Given the description of an element on the screen output the (x, y) to click on. 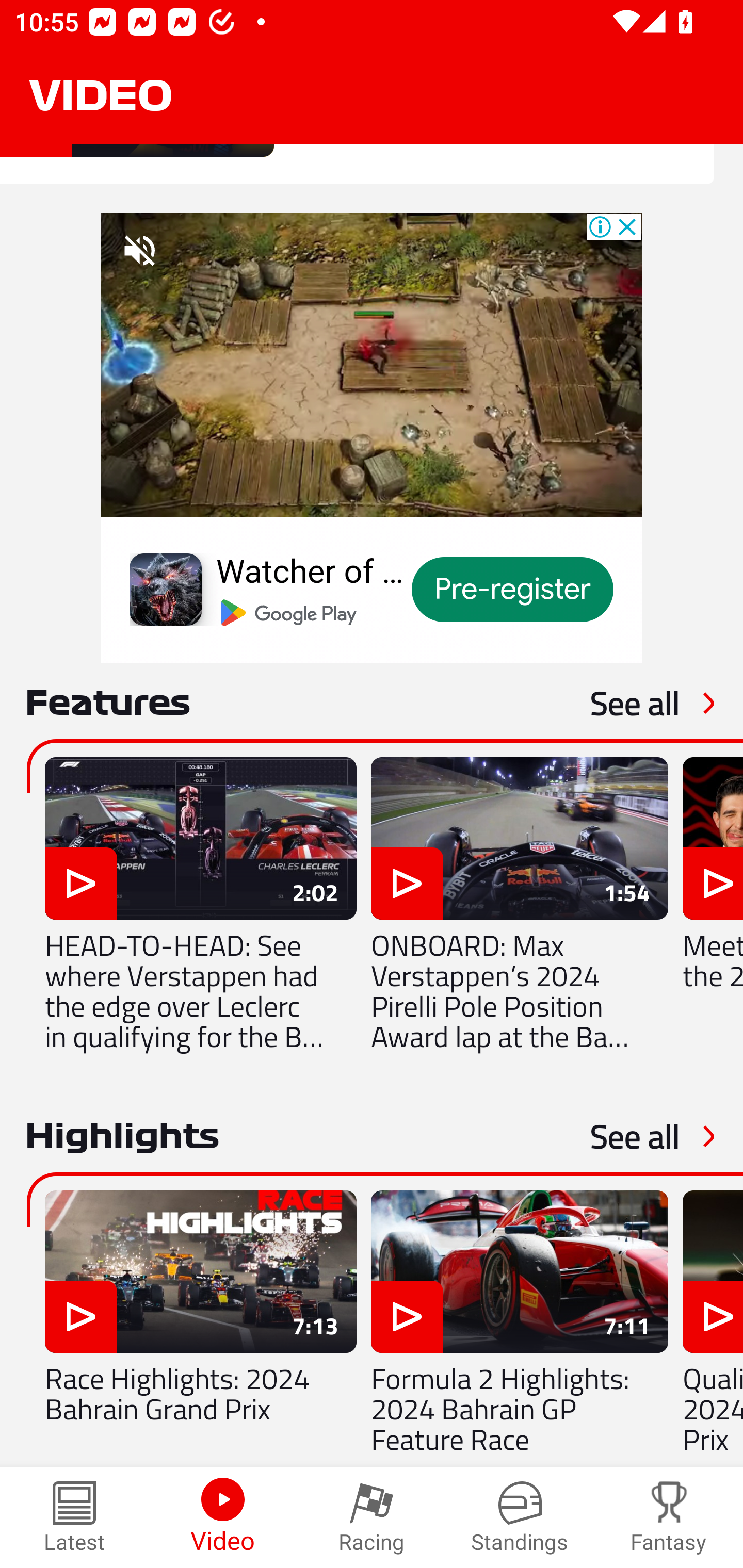
Pre-register (512, 589)
See all (634, 702)
See all (634, 1135)
Latest (74, 1517)
Racing (371, 1517)
Standings (519, 1517)
Fantasy (668, 1517)
